Given the description of an element on the screen output the (x, y) to click on. 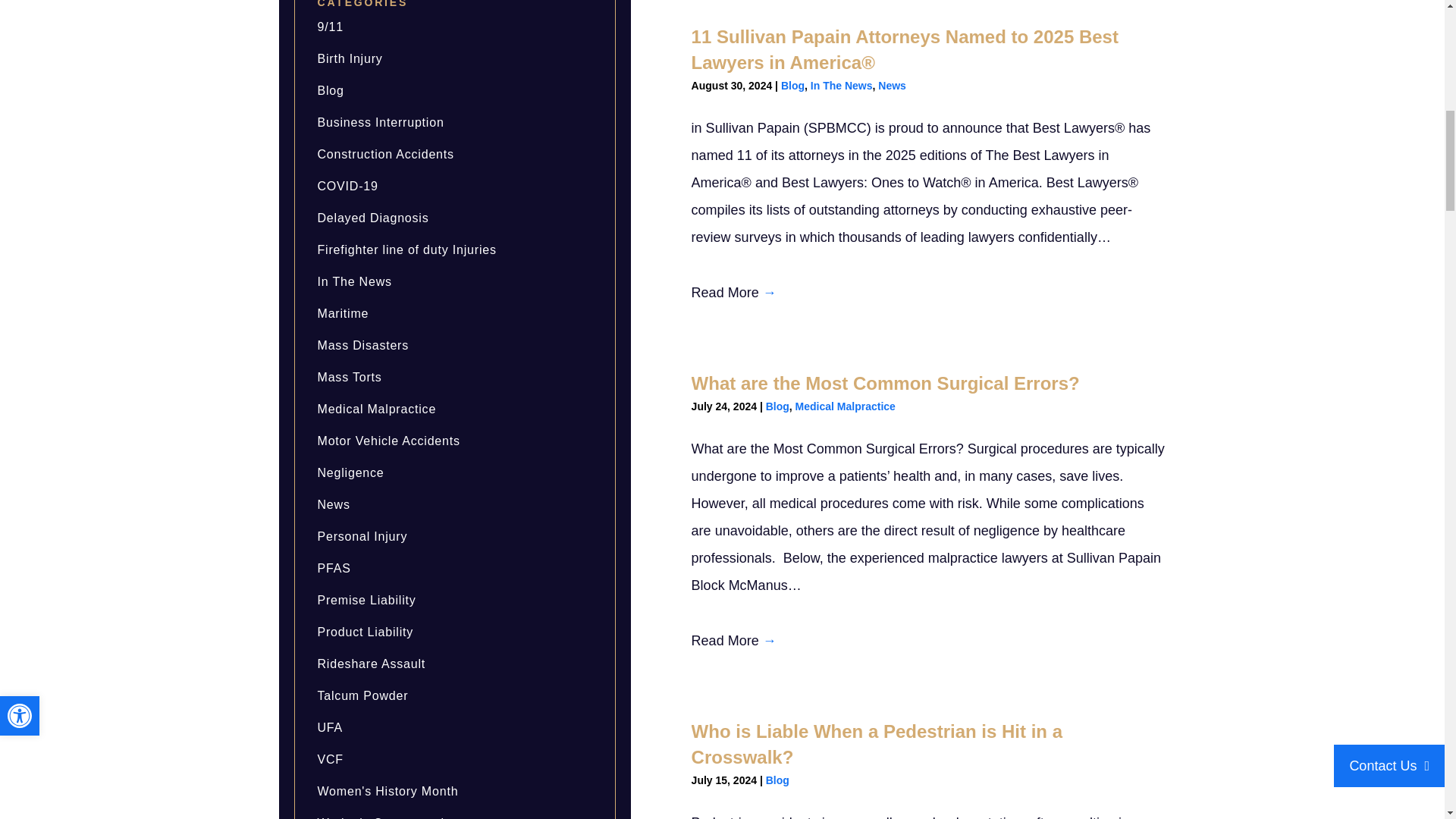
Mass Disasters (363, 345)
COVID-19 (347, 185)
Business Interruption (380, 122)
Firefighter line of duty Injuries (406, 249)
Blog (330, 90)
Maritime (342, 313)
Delayed Diagnosis (372, 217)
In The News (354, 281)
Mass Torts (349, 377)
Construction Accidents (384, 154)
